Given the description of an element on the screen output the (x, y) to click on. 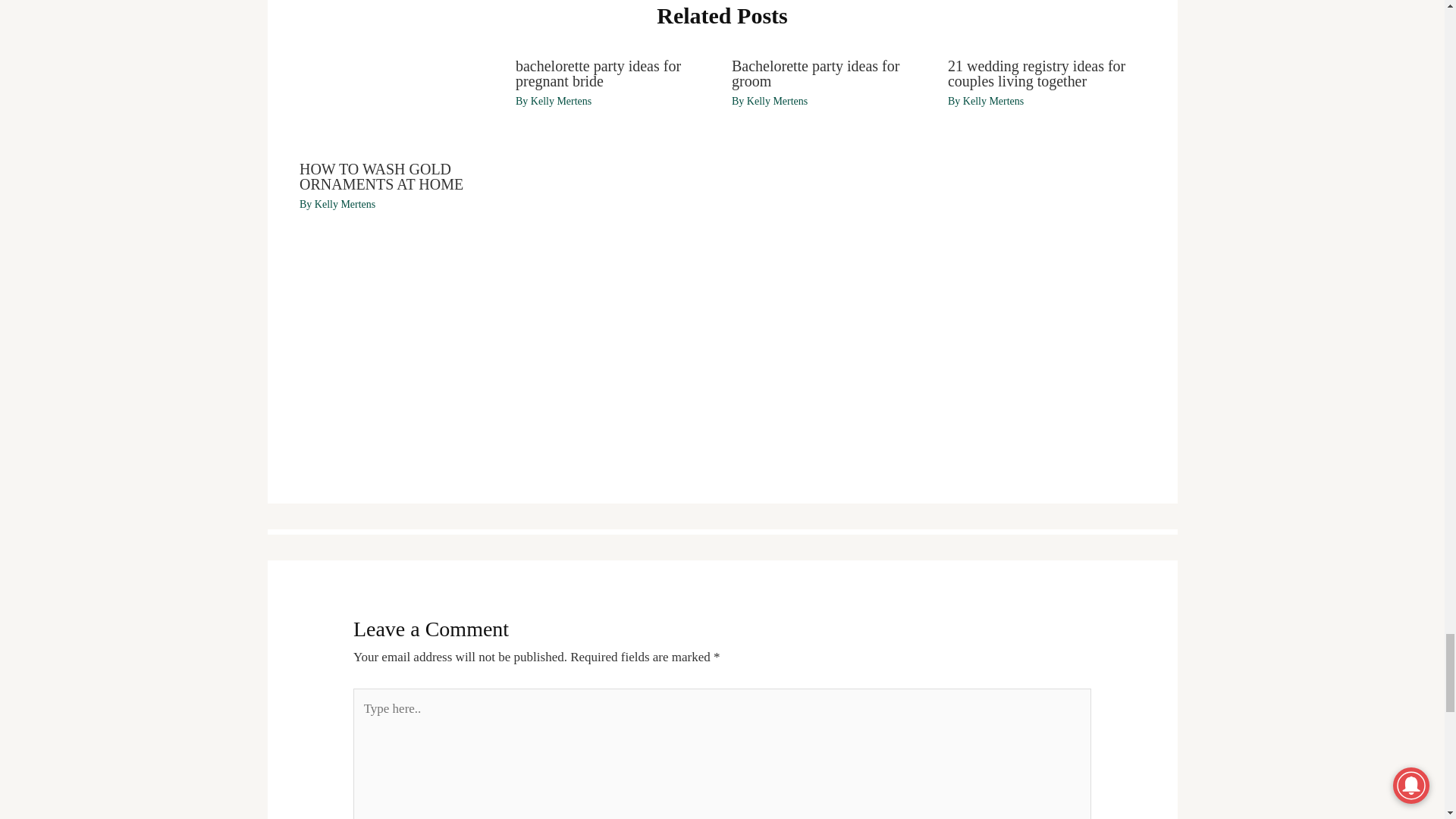
bachelorette party ideas for pregnant bride (598, 73)
Kelly Mertens (561, 101)
View all posts by Kelly Mertens (344, 204)
Kelly Mertens (344, 204)
21 wedding registry ideas for couples living together (1036, 73)
View all posts by Kelly Mertens (992, 101)
Bachelorette party ideas for groom (815, 73)
View all posts by Kelly Mertens (561, 101)
Kelly Mertens (992, 101)
View all posts by Kelly Mertens (777, 101)
HOW TO WASH GOLD ORNAMENTS AT HOME (381, 176)
Kelly Mertens (777, 101)
